Given the description of an element on the screen output the (x, y) to click on. 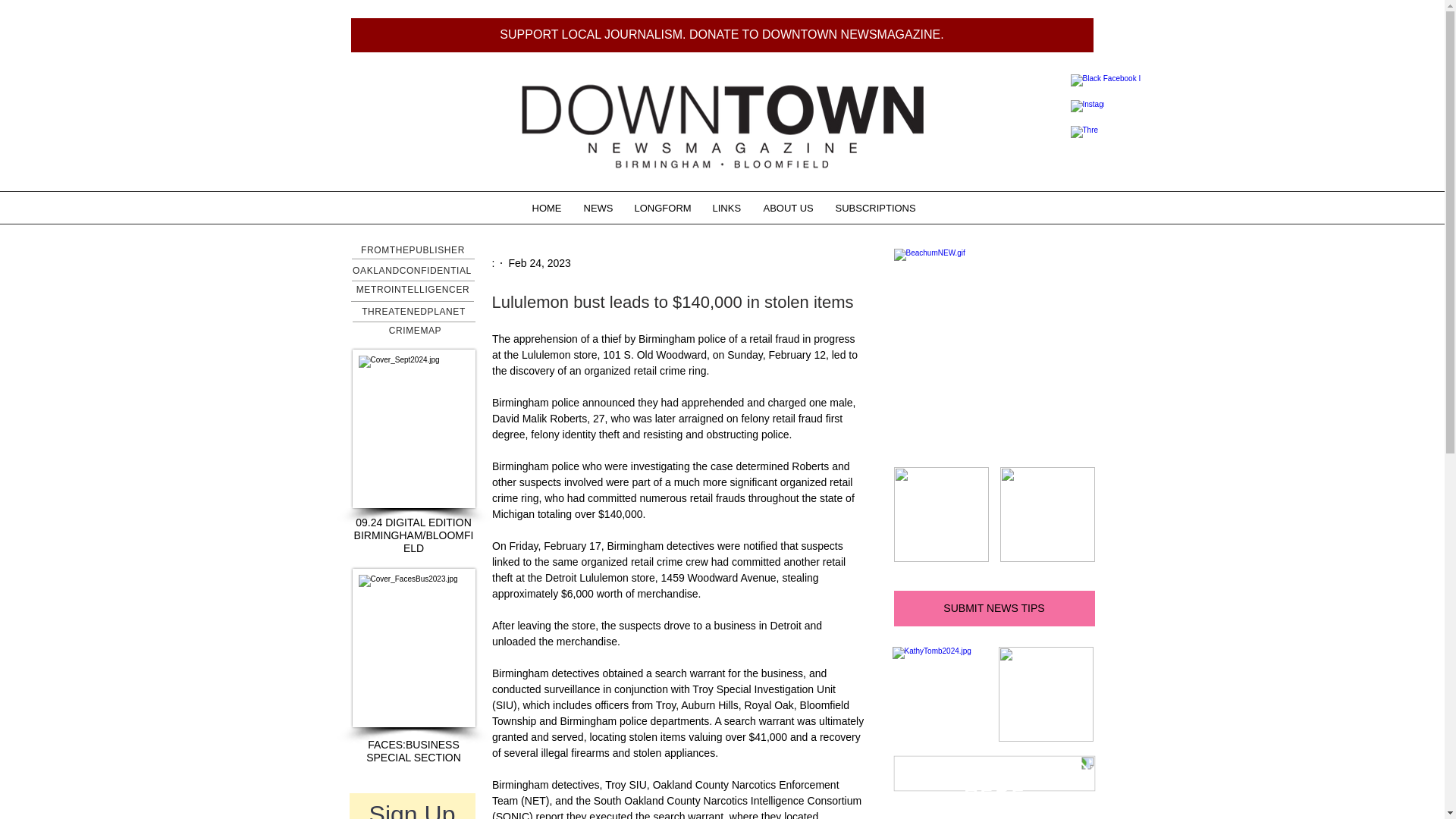
SUBSCRIPTIONS (873, 208)
SUPPORT LOCAL JOURNALISM. DONATE TO DOWNTOWN NEWSMAGAZINE. (721, 35)
HOME (545, 208)
Feb 24, 2023 (539, 262)
LONGFORM (662, 208)
